Given the description of an element on the screen output the (x, y) to click on. 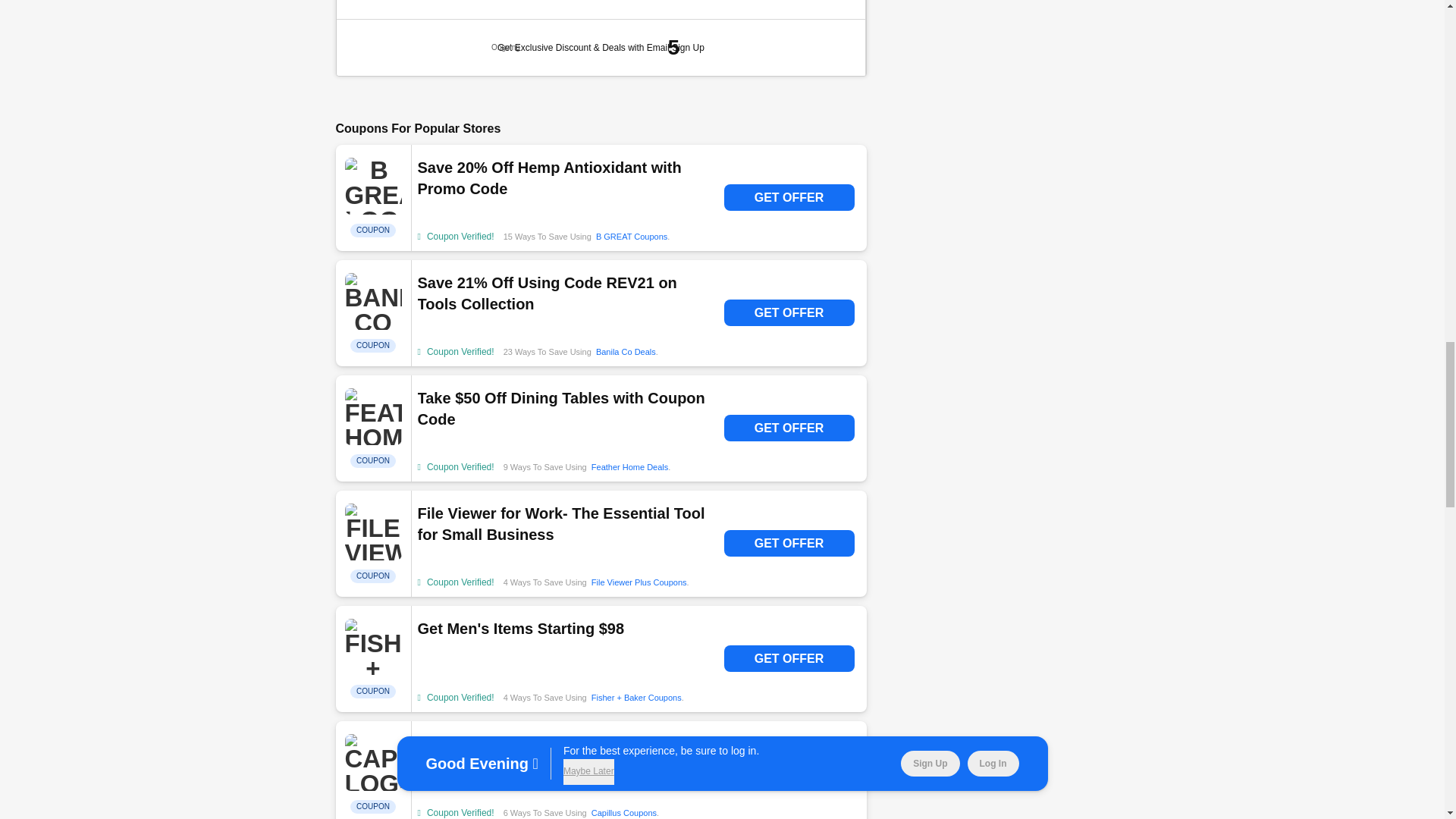
Banila Co Deals (625, 351)
B GREAT Coupons (630, 235)
